Given the description of an element on the screen output the (x, y) to click on. 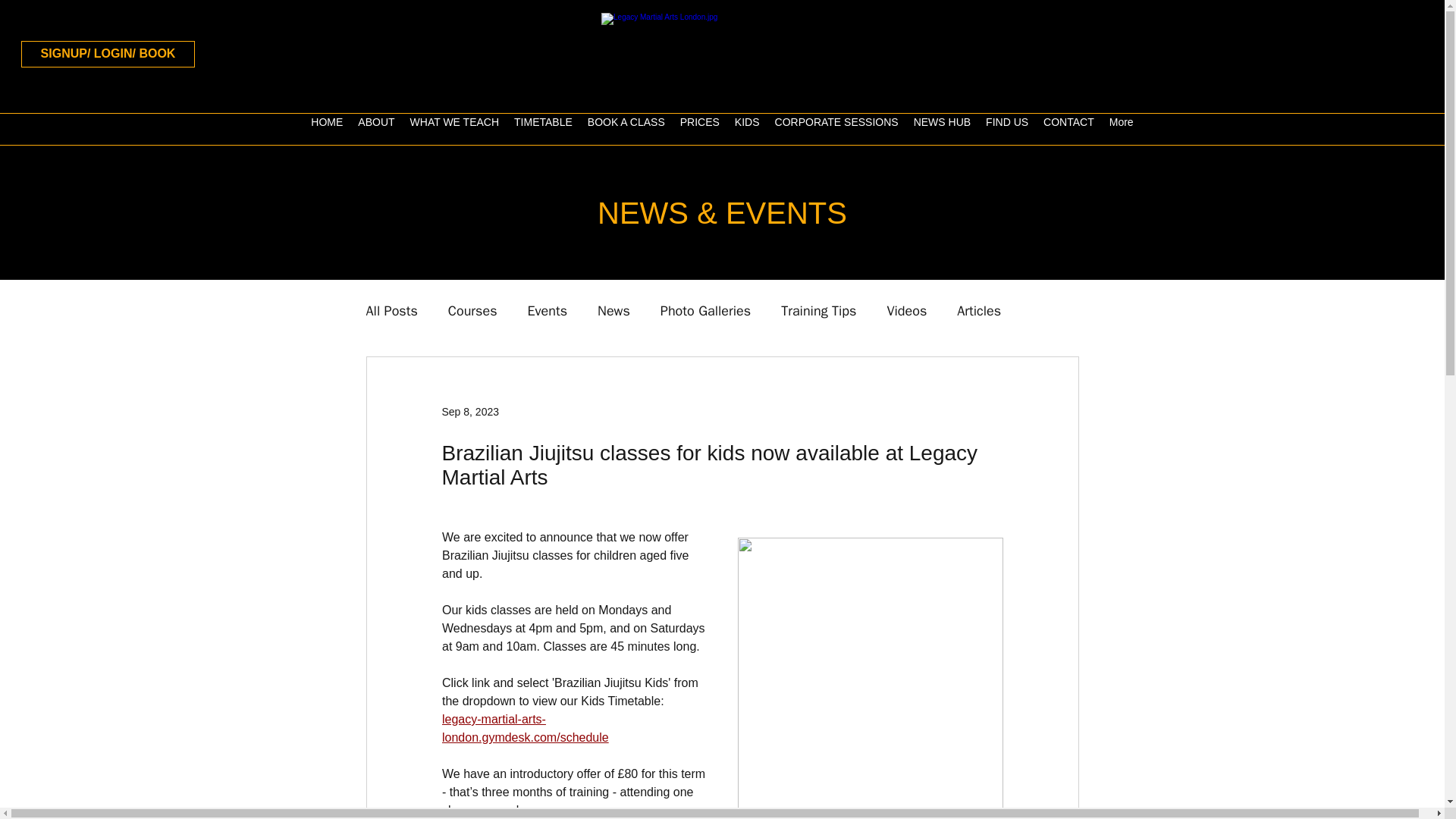
Sep 8, 2023 (470, 410)
Courses (472, 311)
News (613, 311)
Training Tips (818, 311)
CONTACT (1068, 129)
BOOK A CLASS (625, 129)
CORPORATE SESSIONS (836, 129)
NEWS HUB (941, 129)
KIDS (746, 129)
Articles (978, 311)
